Given the description of an element on the screen output the (x, y) to click on. 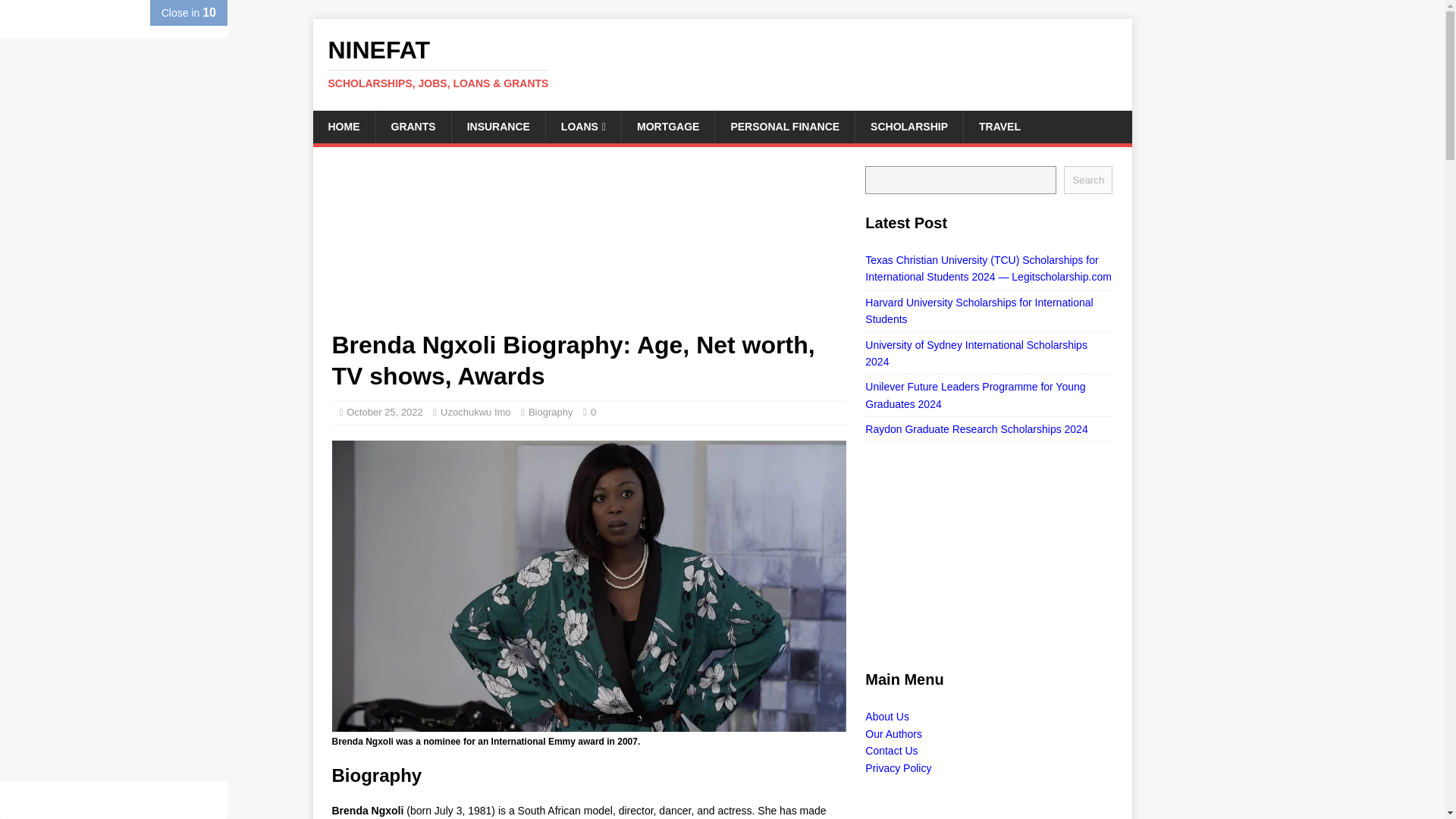
HOME (343, 126)
October 25, 2022 (384, 411)
LOANS (582, 126)
NineFat (721, 63)
TRAVEL (998, 126)
Uzochukwu Imo (476, 411)
SCHOLARSHIP (908, 126)
PERSONAL FINANCE (784, 126)
MORTGAGE (667, 126)
GRANTS (411, 126)
